Given the description of an element on the screen output the (x, y) to click on. 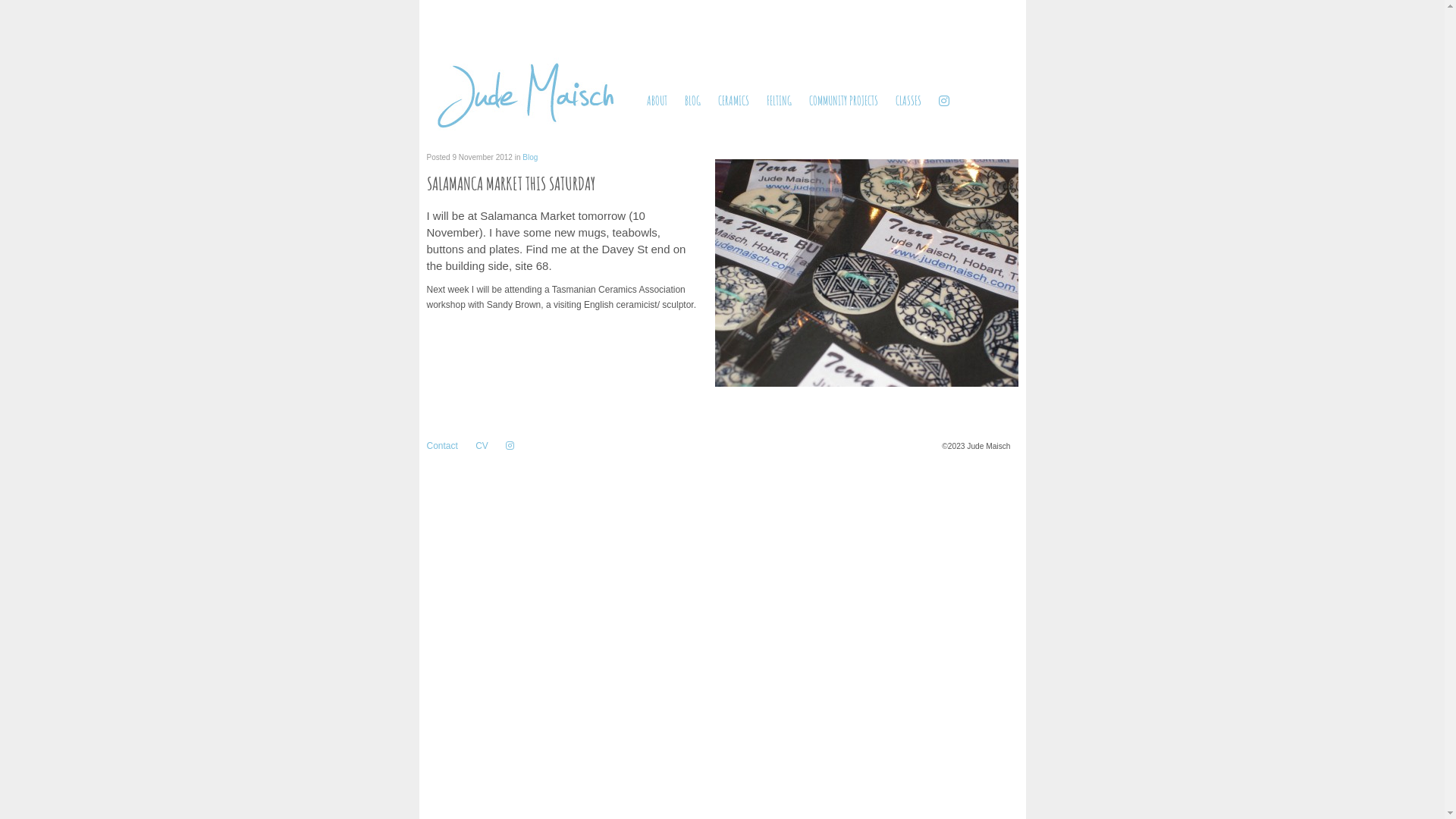
ABOUT Element type: text (663, 100)
FELTING Element type: text (785, 100)
Contact Element type: text (449, 445)
CV Element type: text (489, 445)
BLOG Element type: text (699, 100)
CERAMICS Element type: text (740, 100)
COMMUNITY PROJECTS Element type: text (850, 100)
Blog Element type: text (529, 157)
CLASSES Element type: text (914, 100)
